Given the description of an element on the screen output the (x, y) to click on. 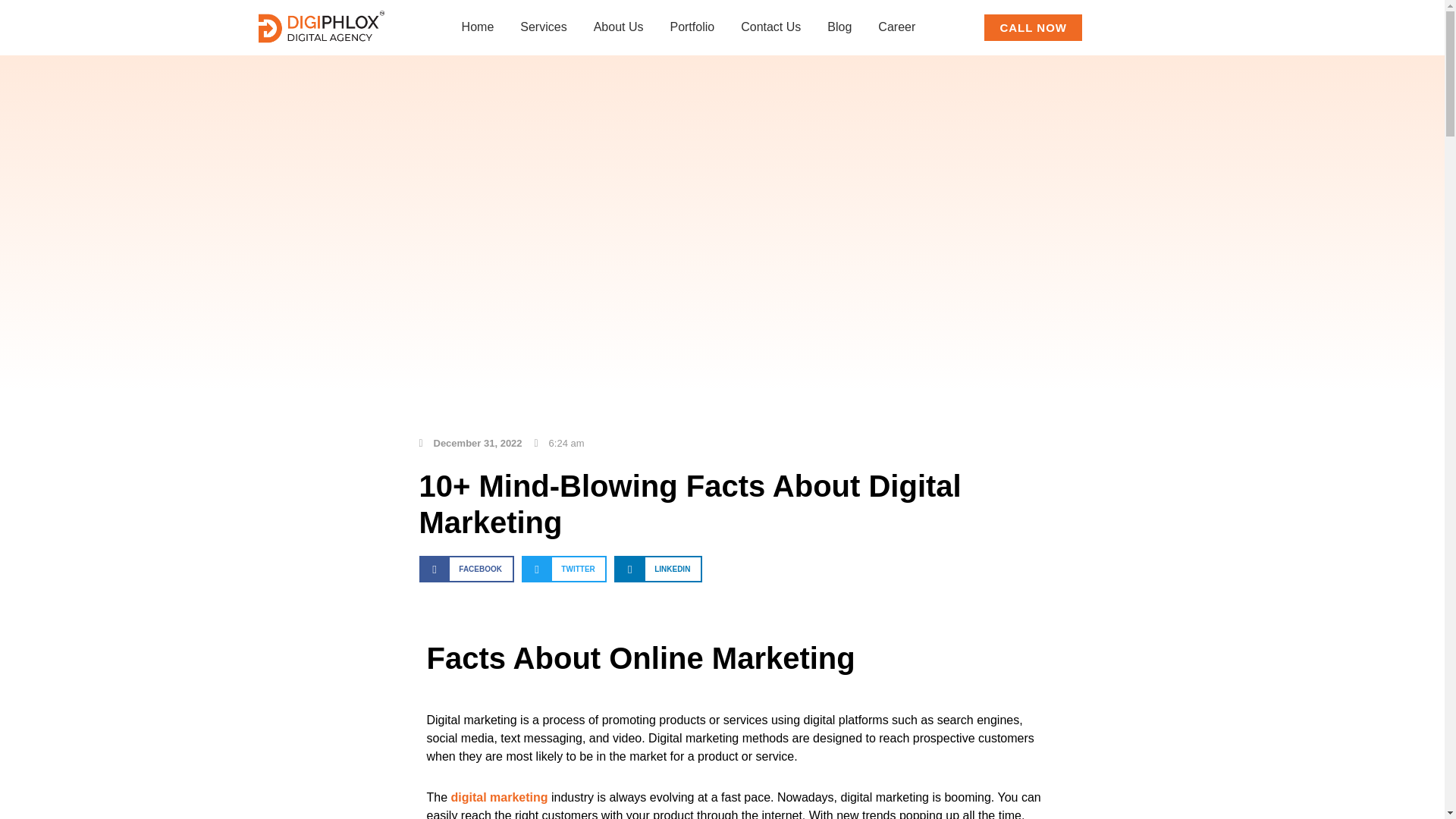
Services (542, 26)
Contact Us (770, 26)
About Us (618, 26)
Portfolio (691, 26)
Career (896, 26)
